Given the description of an element on the screen output the (x, y) to click on. 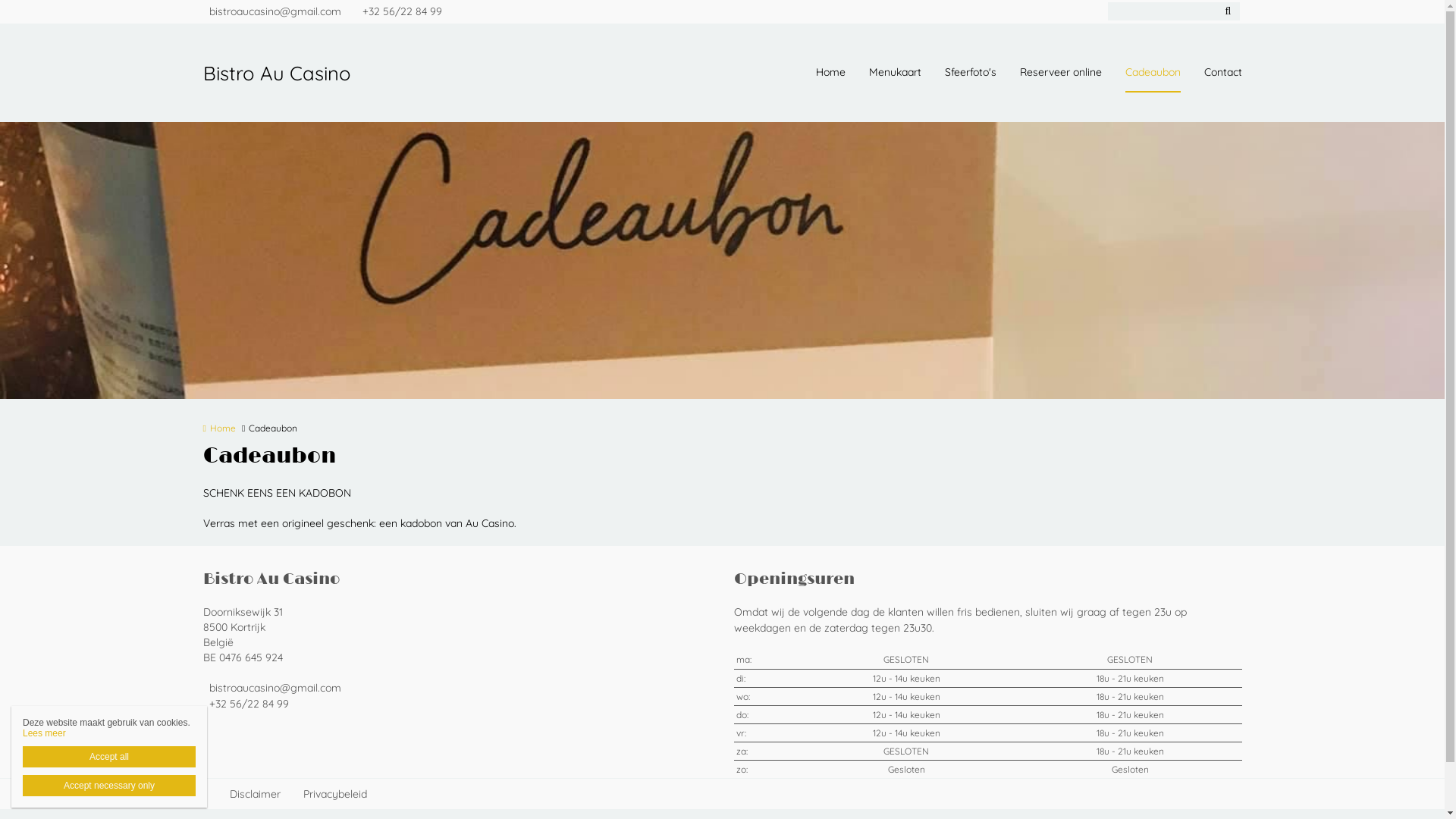
Accept necessary only Element type: text (108, 785)
Privacybeleid Element type: text (335, 793)
bistroaucasino@gmail.com Element type: text (457, 688)
Home Element type: text (219, 427)
Sfeerfoto's Element type: text (970, 72)
Home Element type: text (830, 72)
Reserveer online Element type: text (1060, 72)
Cadeaubon Element type: text (1152, 72)
Menukaart Element type: text (895, 72)
bistroaucasino@gmail.com Element type: text (275, 11)
Accept all Element type: text (108, 756)
Contact Element type: text (1223, 72)
Overslaan en naar de inhoud gaan Element type: text (81, 0)
+32 56/22 84 99 Element type: text (457, 704)
Bistro Au Casino Element type: text (294, 72)
Zoeken Element type: text (1227, 11)
+32 56/22 84 99 Element type: text (398, 11)
Disclaimer Element type: text (254, 793)
Lees meer Element type: text (43, 733)
